Given the description of an element on the screen output the (x, y) to click on. 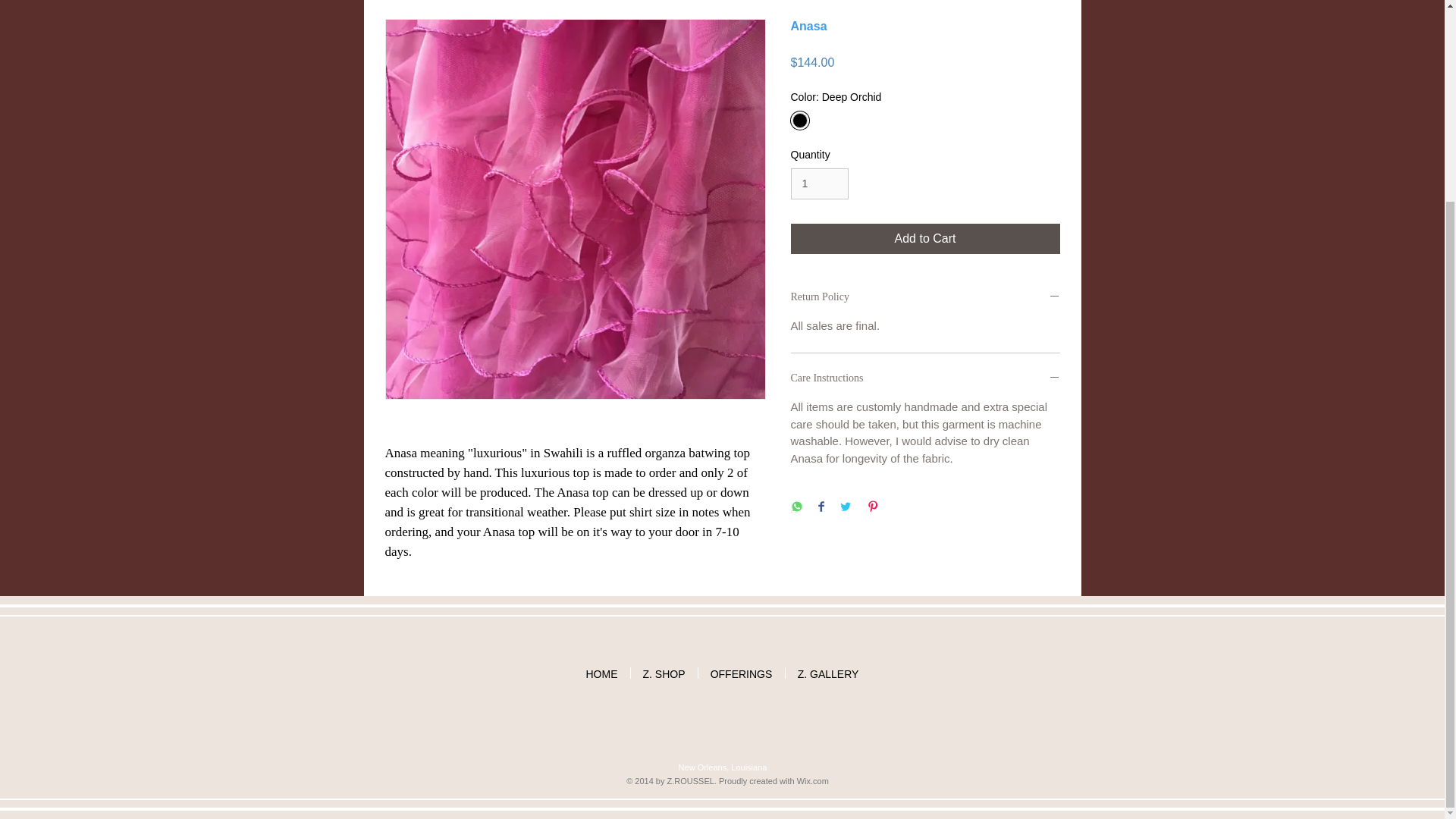
HOME (600, 672)
Add to Cart (924, 238)
1 (818, 183)
Z. GALLERY (828, 672)
ix.com (816, 780)
Z. SHOP (663, 672)
OFFERINGS (740, 672)
W (800, 780)
Care Instructions (924, 378)
Return Policy (924, 297)
